Given the description of an element on the screen output the (x, y) to click on. 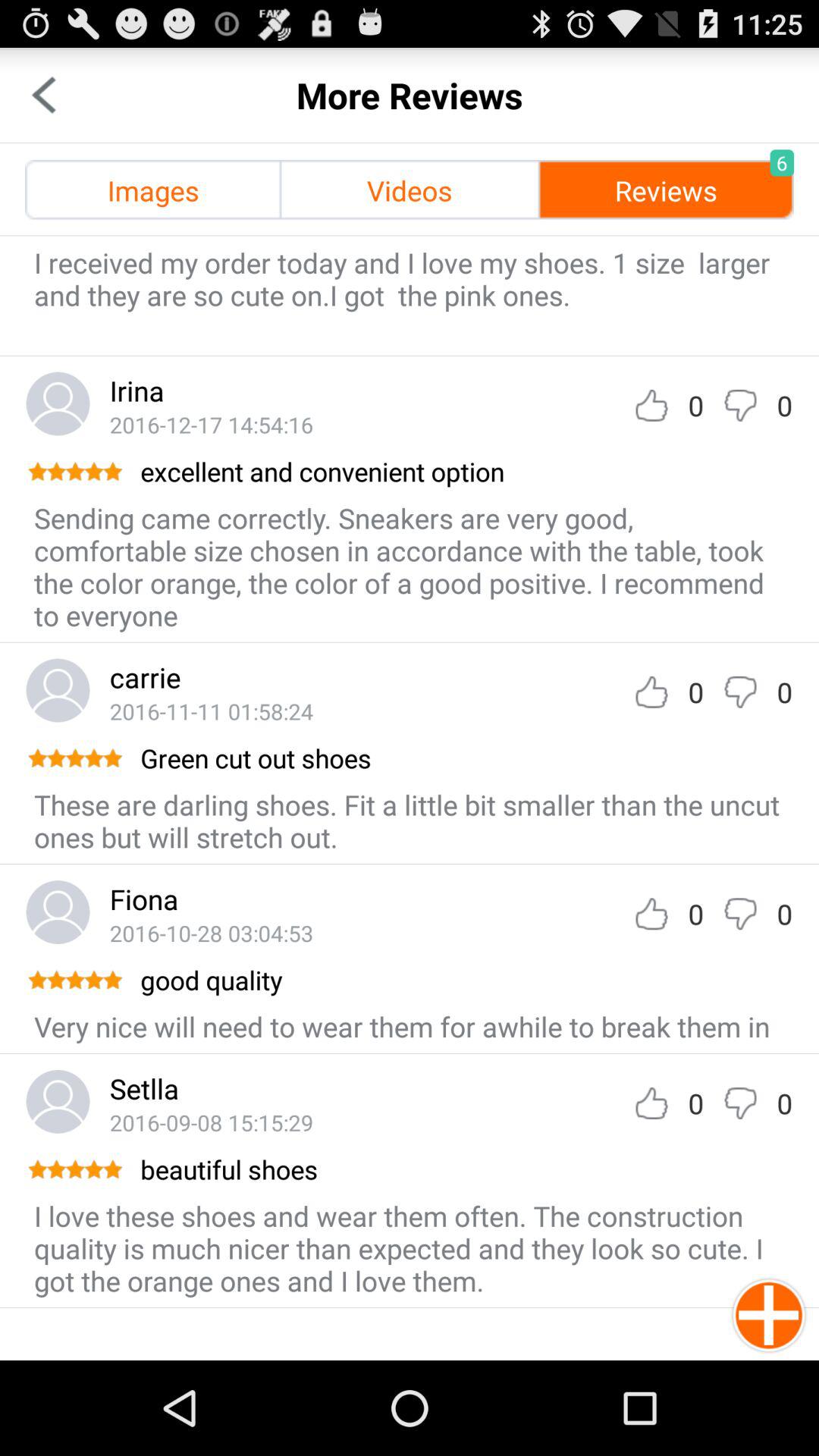
go back option (43, 95)
